Given the description of an element on the screen output the (x, y) to click on. 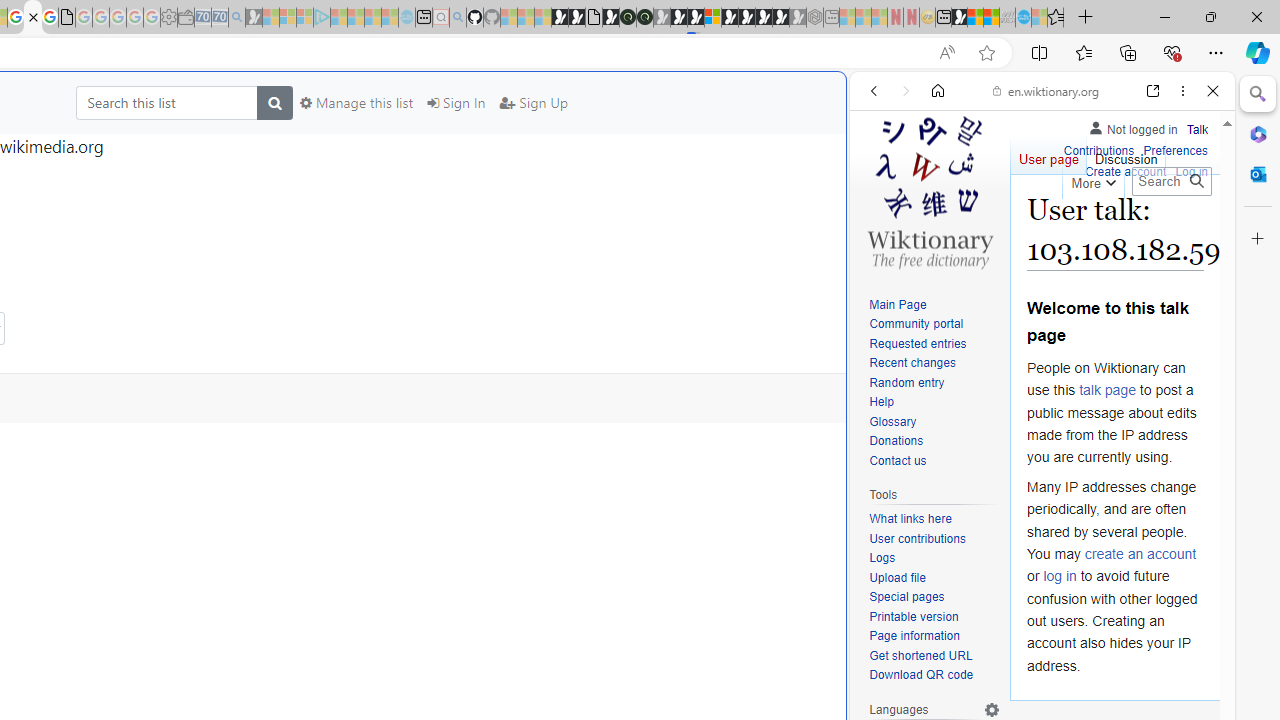
Discussion (1125, 154)
Contact us (897, 460)
Services - Maintenance | Sky Blue Bikes - Sky Blue Bikes (1023, 17)
